Given the description of an element on the screen output the (x, y) to click on. 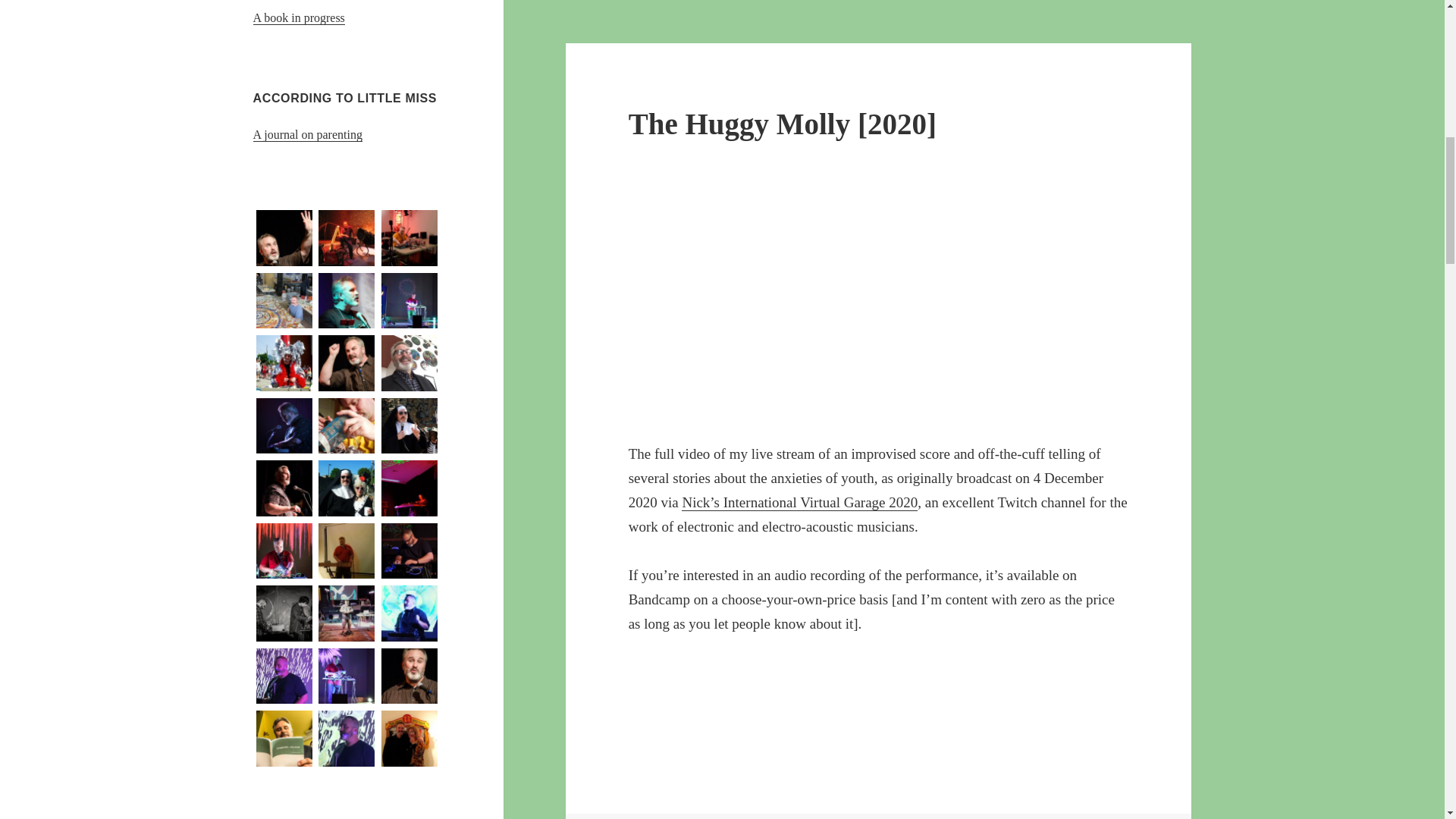
A book in progress (299, 18)
YouTube video player (840, 298)
A journal on parenting (307, 134)
